Given the description of an element on the screen output the (x, y) to click on. 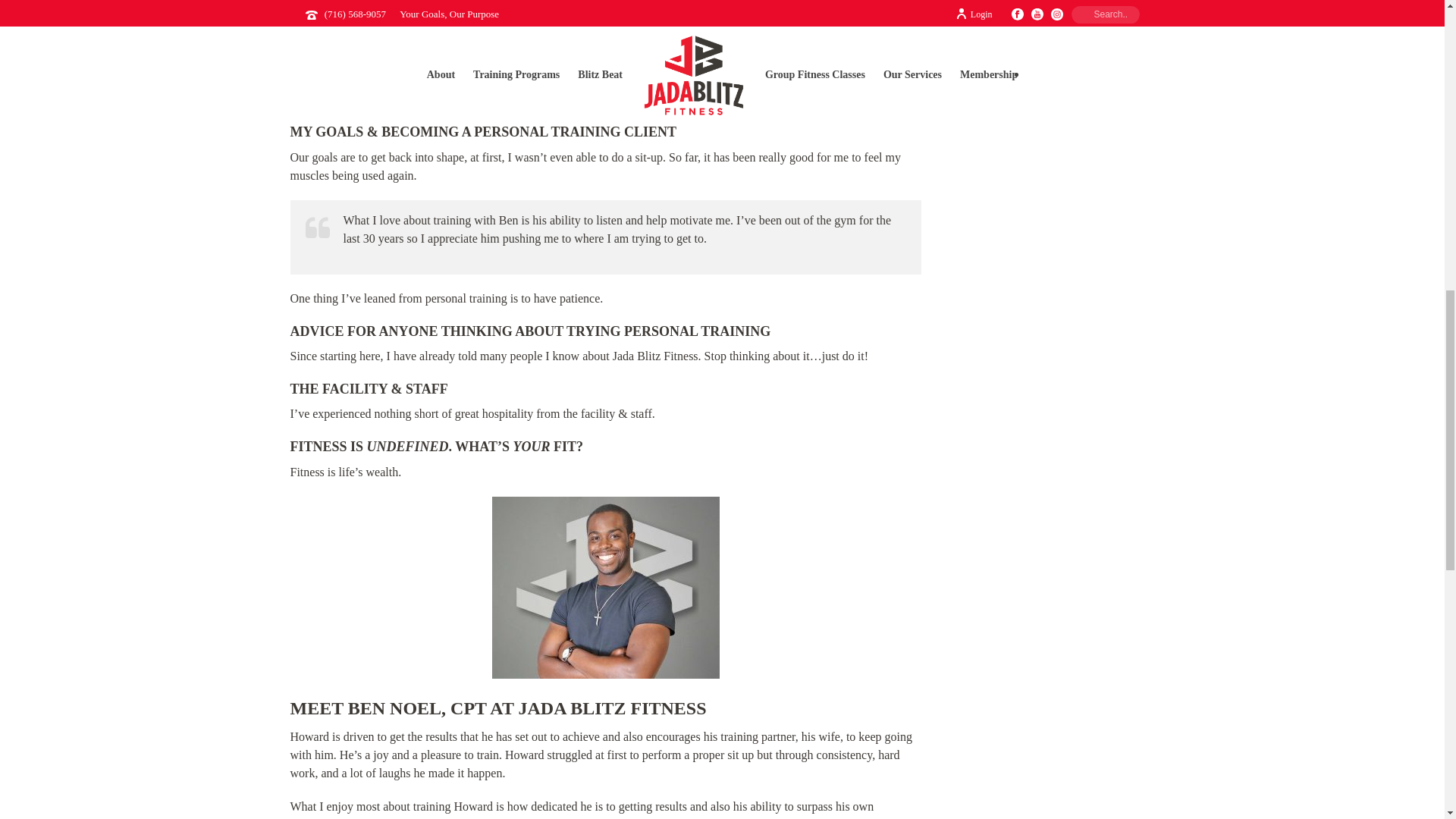
Posts by Sarah Tedesco (335, 2)
Print (887, 4)
